Given the description of an element on the screen output the (x, y) to click on. 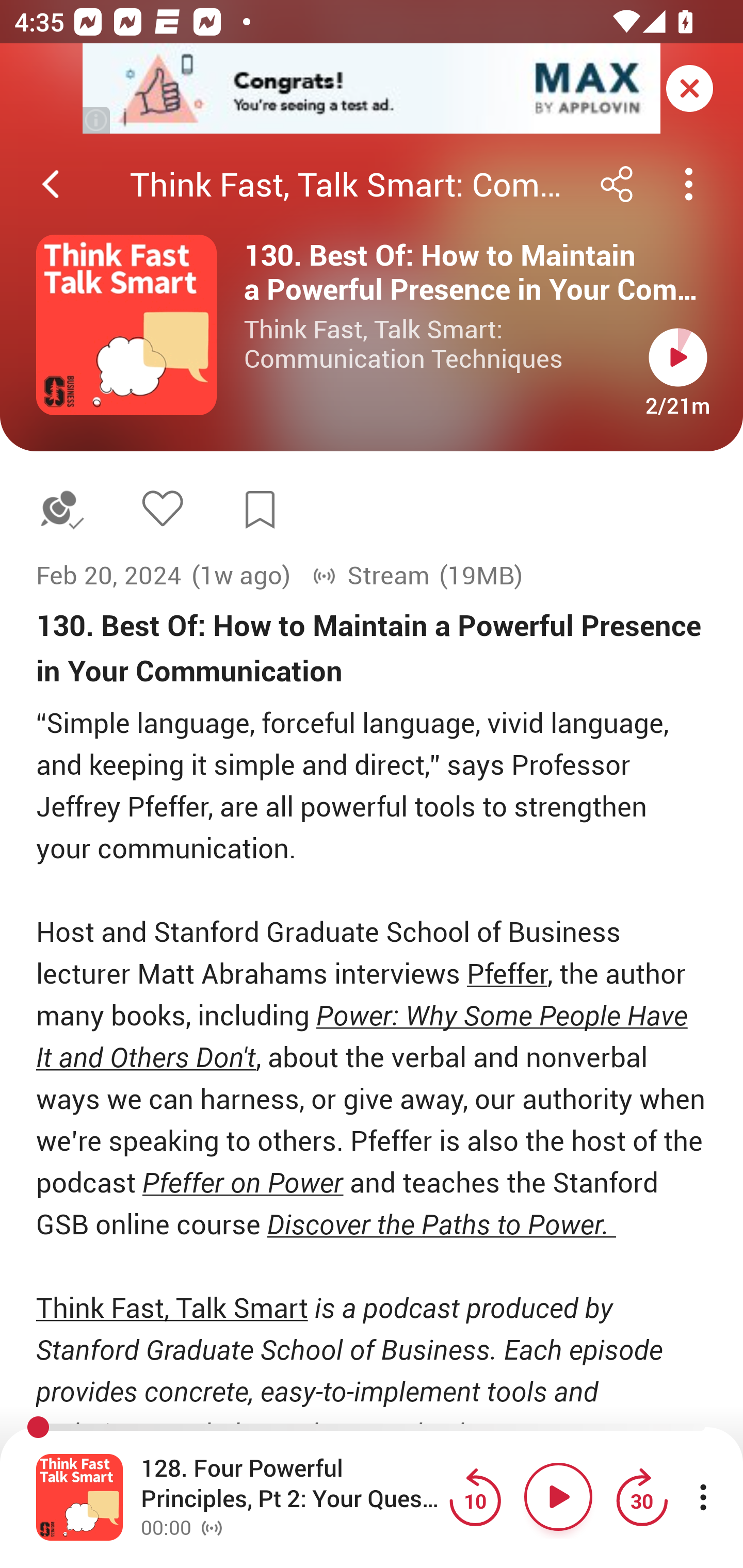
app-monetization (371, 88)
(i) (96, 119)
Back (50, 184)
Open series (126, 325)
Play button (677, 357)
Like (161, 507)
Remove episode from Play Later (60, 510)
New bookmark … (259, 510)
Stream (370, 576)
Open fullscreen player (79, 1497)
More player controls (703, 1497)
Play button (558, 1496)
Jump back (475, 1497)
Jump forward (641, 1497)
